Given the description of an element on the screen output the (x, y) to click on. 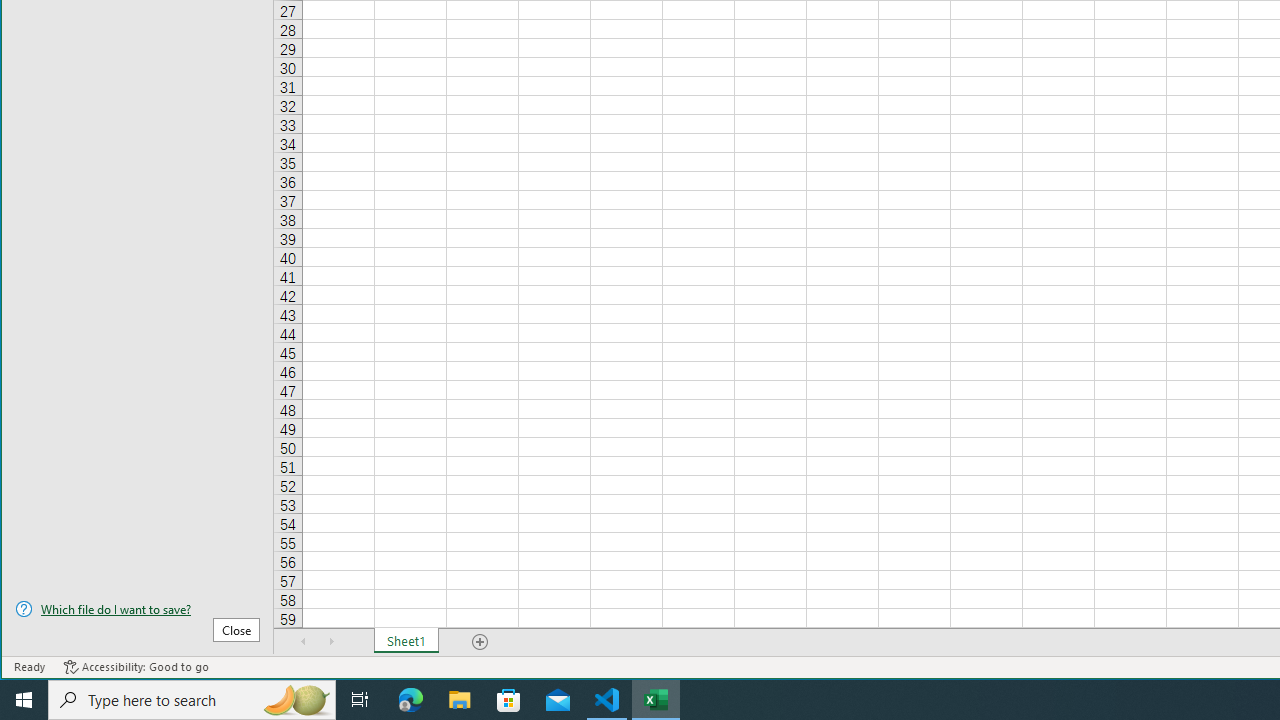
Excel - 1 running window (656, 699)
